Given the description of an element on the screen output the (x, y) to click on. 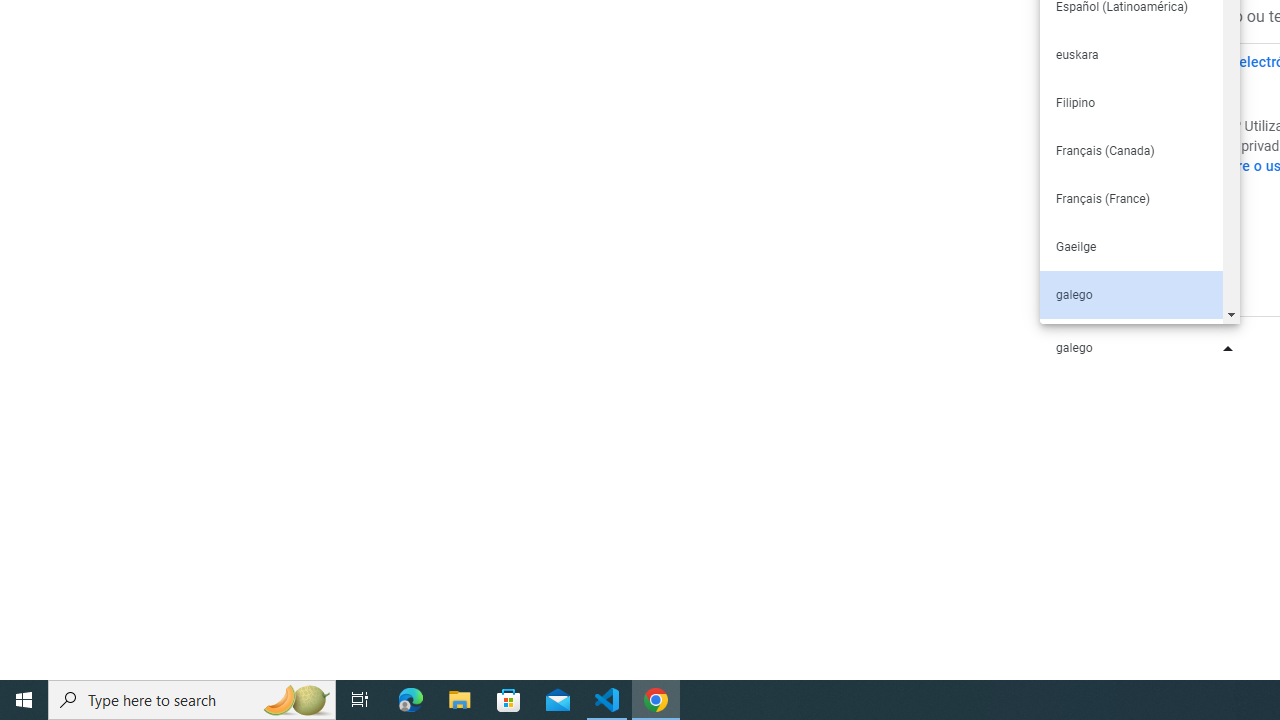
Crear conta (1135, 235)
galego (1130, 294)
galego (1139, 347)
Hrvatski (1130, 342)
Filipino (1130, 102)
Gaeilge (1130, 246)
euskara (1130, 54)
